Given the description of an element on the screen output the (x, y) to click on. 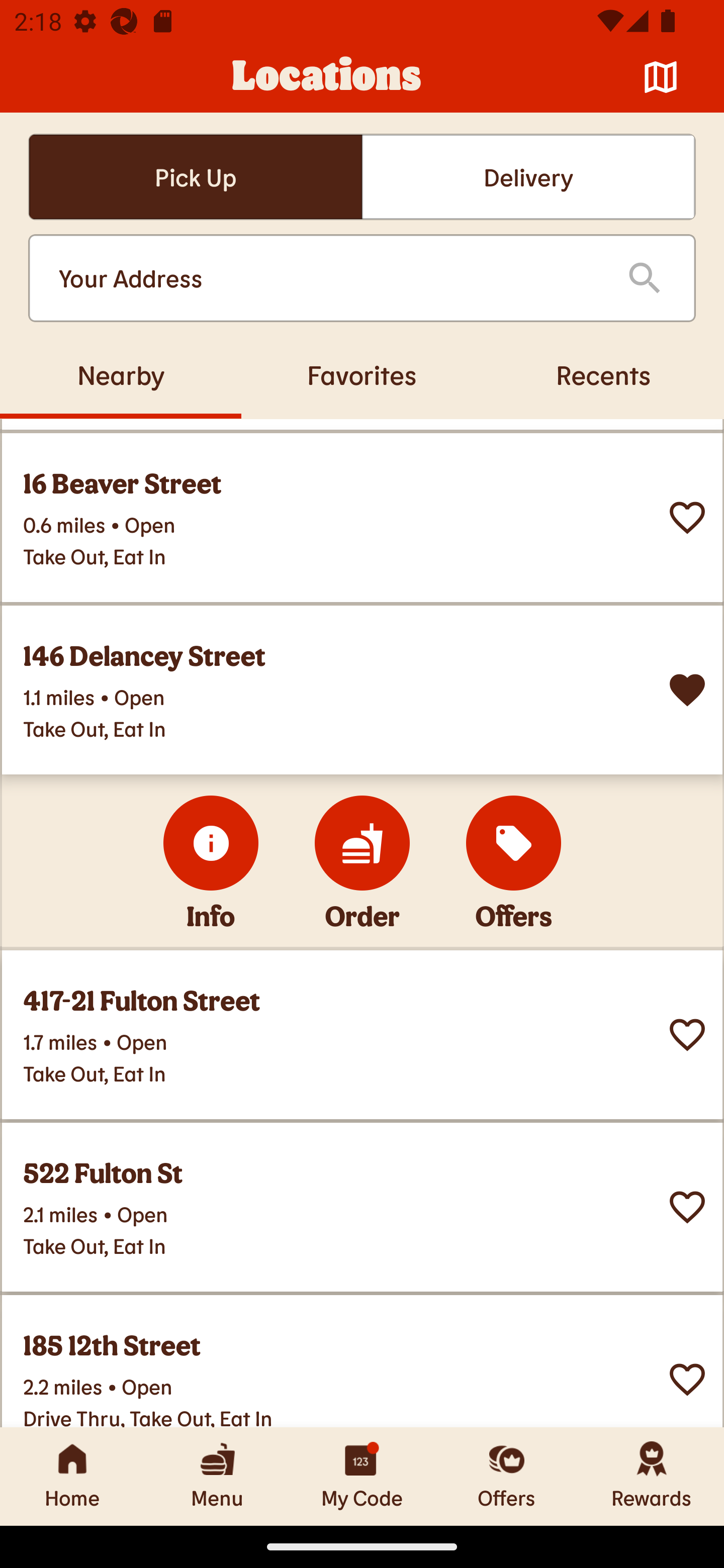
Map 󰦂 (660, 77)
Locations (326, 77)
Pick UpSelected Pick UpSelected Pick Up (195, 176)
Delivery Delivery Delivery (528, 176)
Your Address (327, 277)
Nearby (120, 374)
Favorites (361, 374)
Recents (603, 374)
Set this restaurant as a favorite  (687, 517)
Remove from Favorites?  (687, 689)
Info  (210, 842)
Order (361, 842)
Offers  (513, 842)
Set this restaurant as a favorite  (687, 1034)
Set this restaurant as a favorite  (687, 1206)
Set this restaurant as a favorite  (687, 1378)
Home (72, 1475)
Menu (216, 1475)
My Code (361, 1475)
Offers (506, 1475)
Rewards (651, 1475)
